Given the description of an element on the screen output the (x, y) to click on. 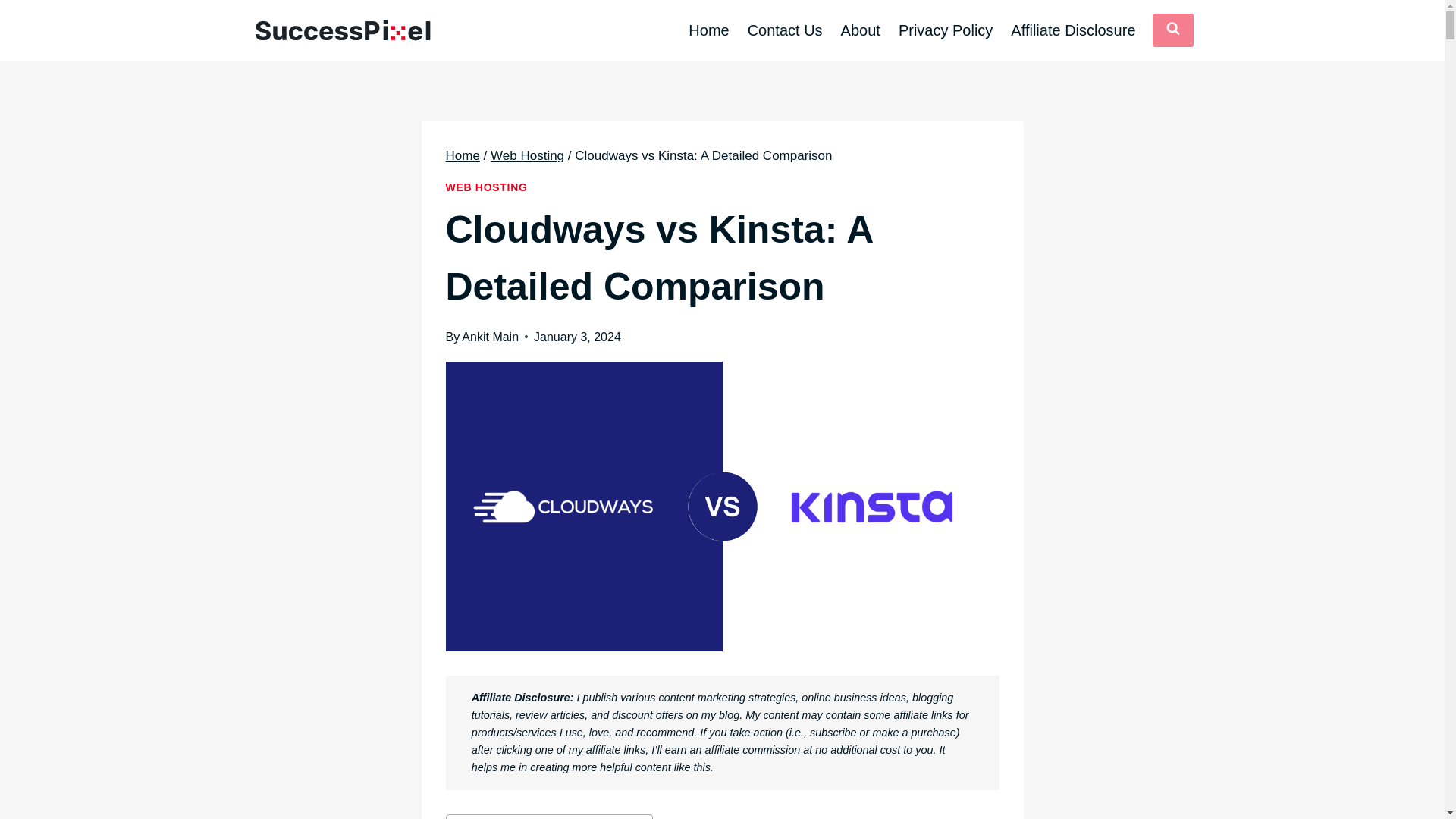
About (860, 30)
Privacy Policy (945, 30)
Ankit Main (489, 336)
WEB HOSTING (486, 186)
Home (462, 155)
Contact Us (784, 30)
Home (708, 30)
Affiliate Disclosure (1072, 30)
Web Hosting (527, 155)
